Given the description of an element on the screen output the (x, y) to click on. 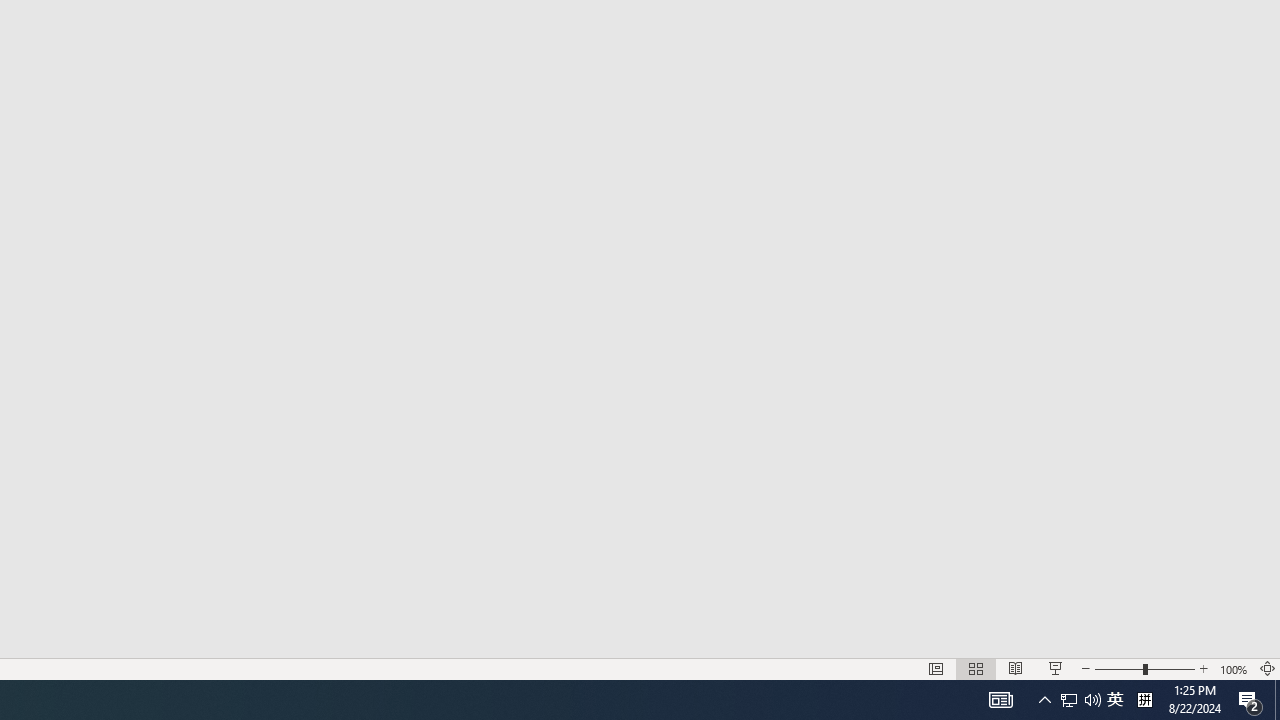
Zoom Out (1118, 668)
Reading View (1015, 668)
Slide Sorter (975, 668)
Zoom In (1204, 668)
Zoom (1144, 668)
Zoom 100% (1234, 668)
Slide Show (1055, 668)
Normal (936, 668)
Zoom to Fit  (1267, 668)
